Given the description of an element on the screen output the (x, y) to click on. 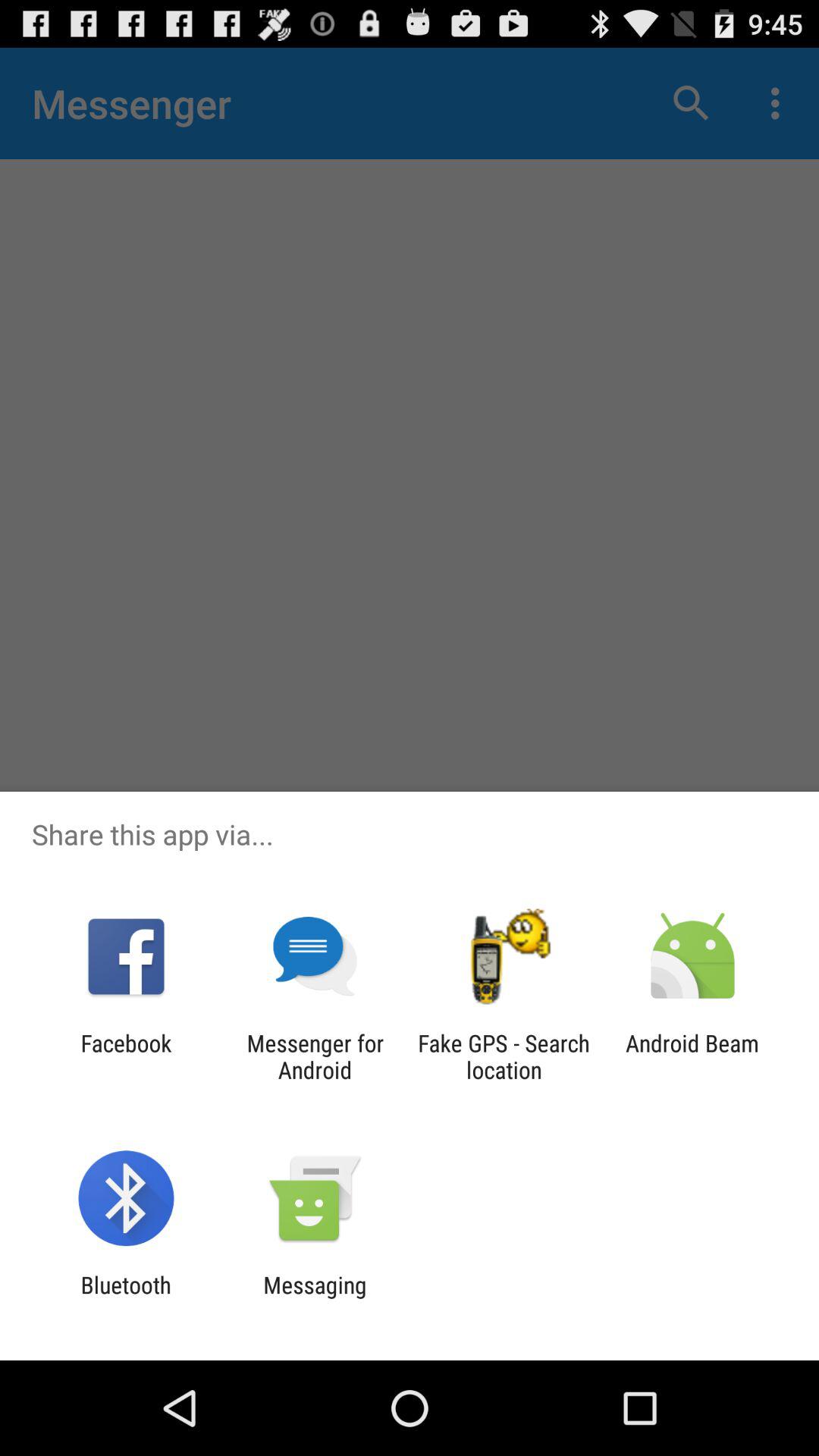
turn off app next to messaging (125, 1298)
